Given the description of an element on the screen output the (x, y) to click on. 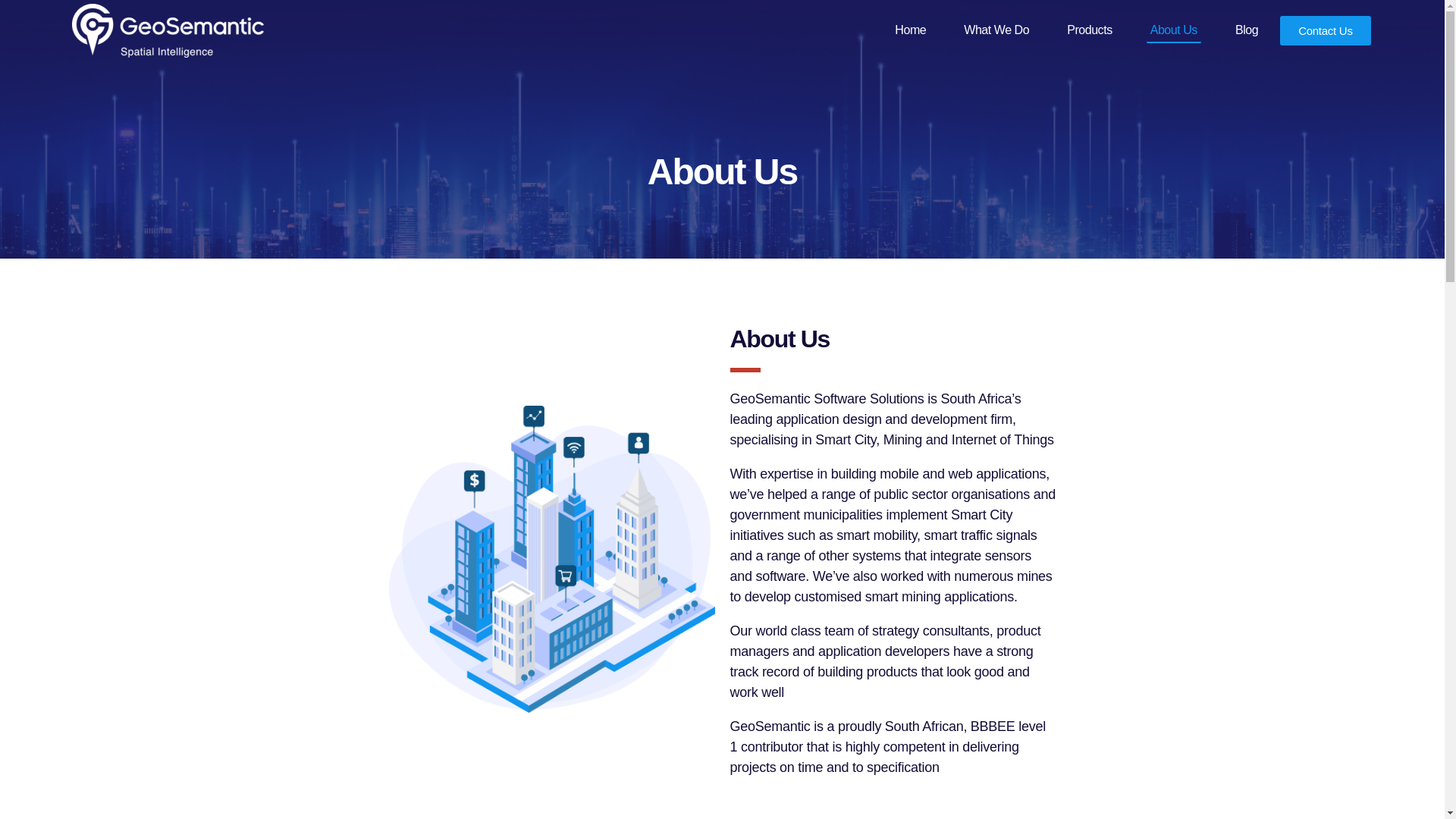
Home (910, 30)
Products (1089, 30)
Blog (1246, 30)
About Us (1174, 30)
What We Do (995, 30)
Contact Us (1325, 30)
